Given the description of an element on the screen output the (x, y) to click on. 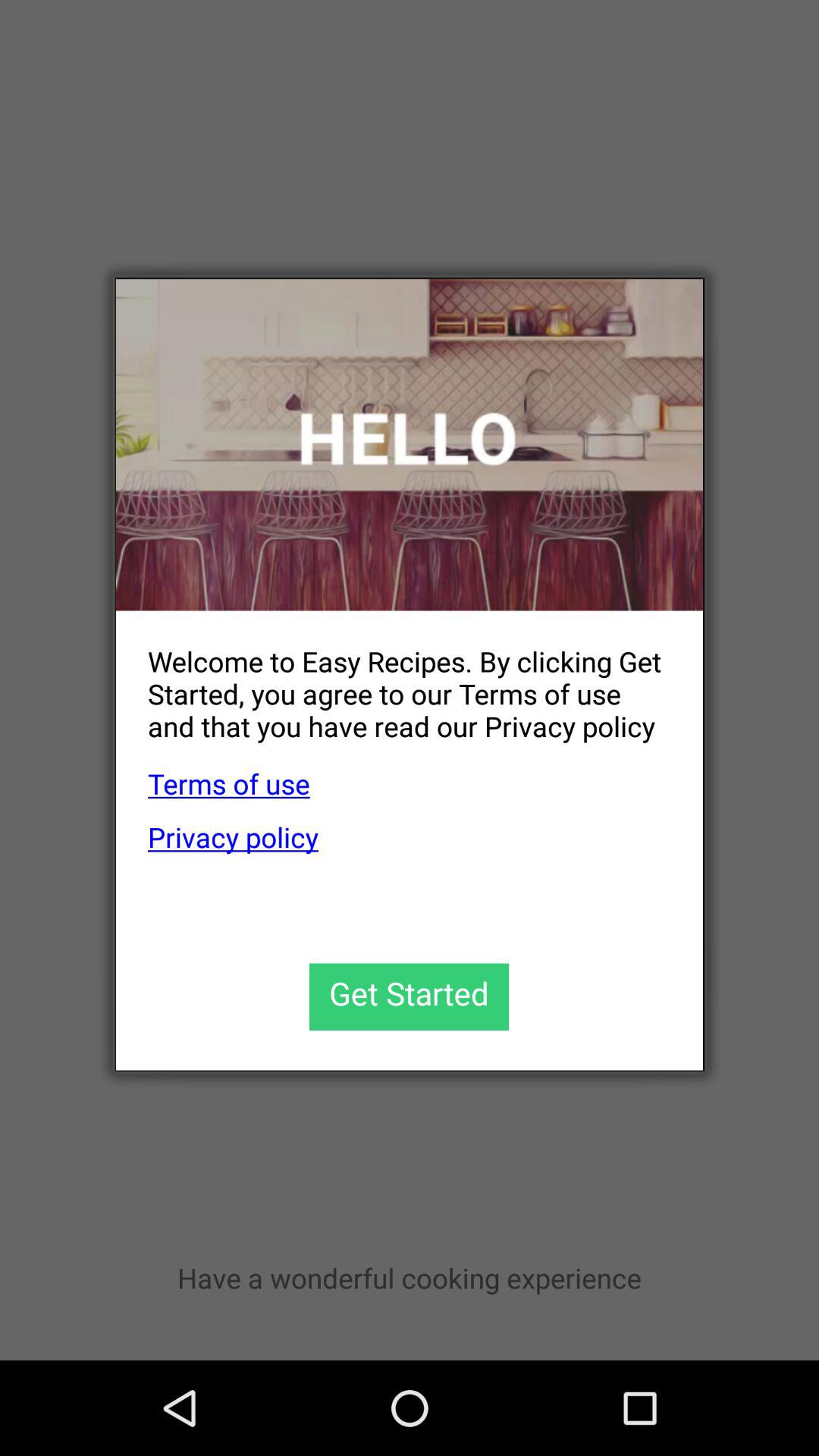
turn off item above the welcome to easy (409, 444)
